Given the description of an element on the screen output the (x, y) to click on. 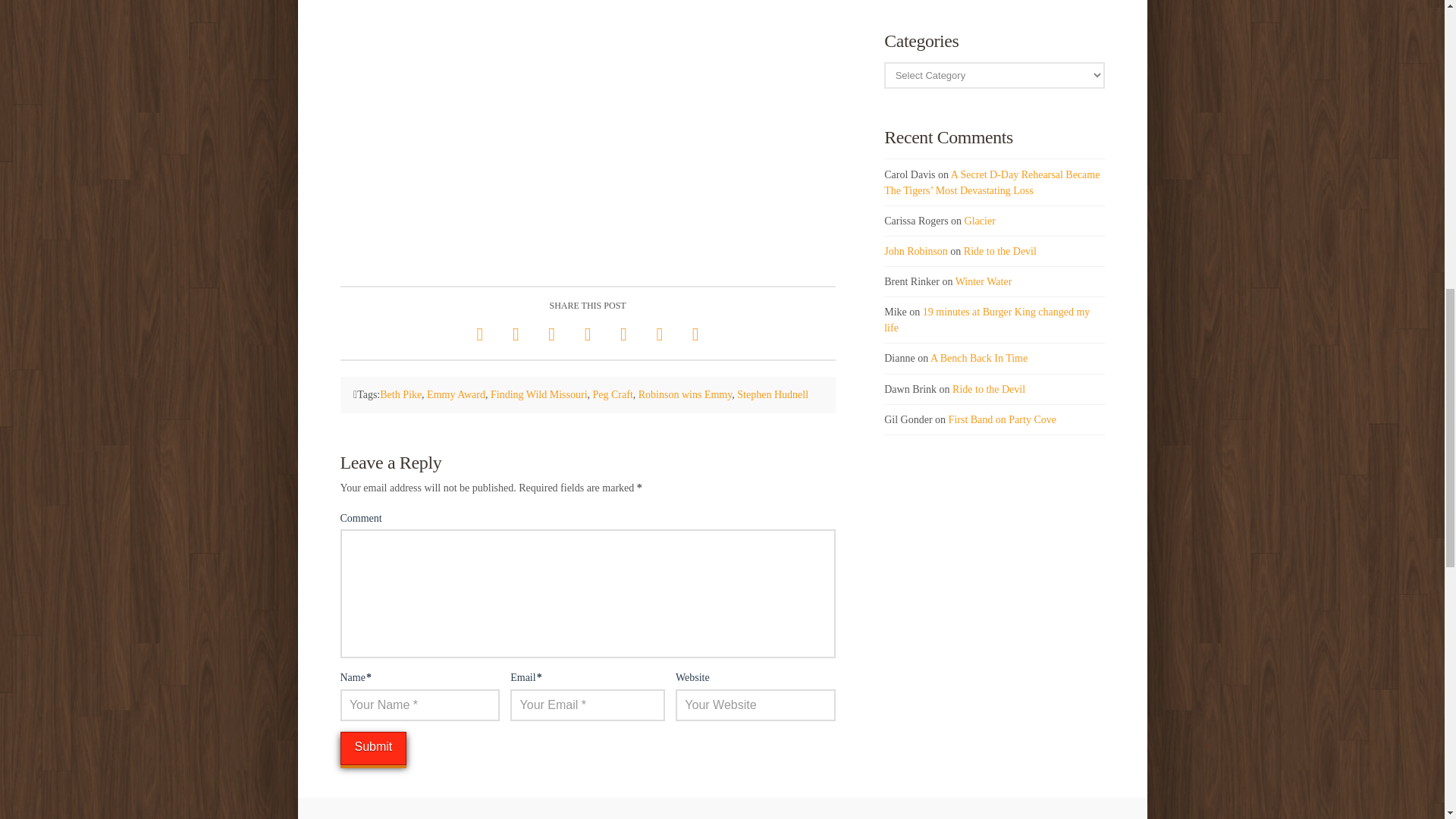
Robinson wins Emmy (685, 394)
Finding Wild Missouri (539, 394)
Glacier (979, 220)
Peg Craft (612, 394)
19 minutes at Burger King changed my life (986, 319)
Submit (372, 748)
Ride to the Devil (999, 251)
John Robinson (915, 251)
Winter Water (983, 281)
Emmy Award (455, 394)
